Given the description of an element on the screen output the (x, y) to click on. 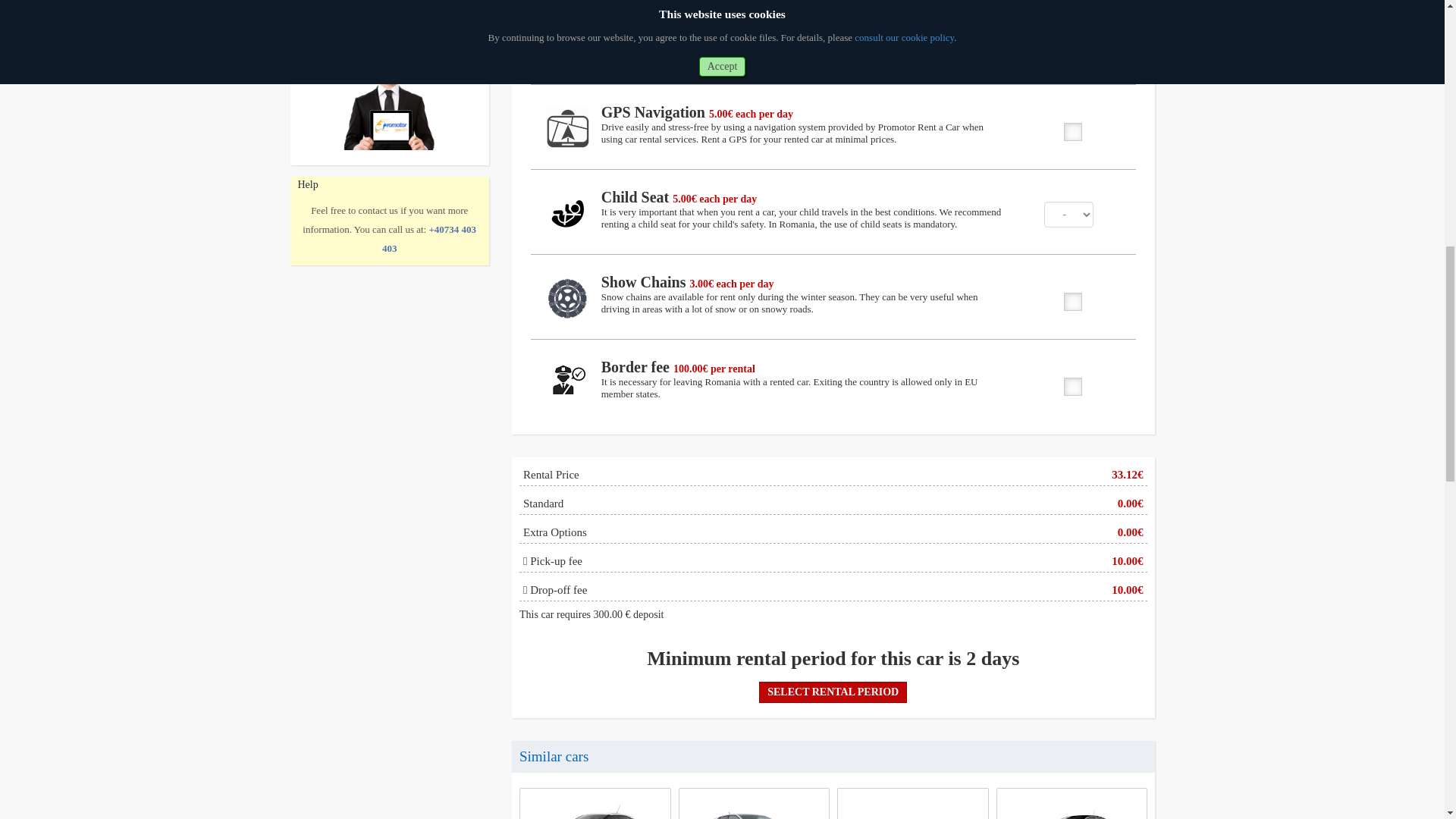
on (1069, 297)
on (1069, 382)
on (1069, 127)
SELECT RENTAL PERIOD (832, 691)
